Given the description of an element on the screen output the (x, y) to click on. 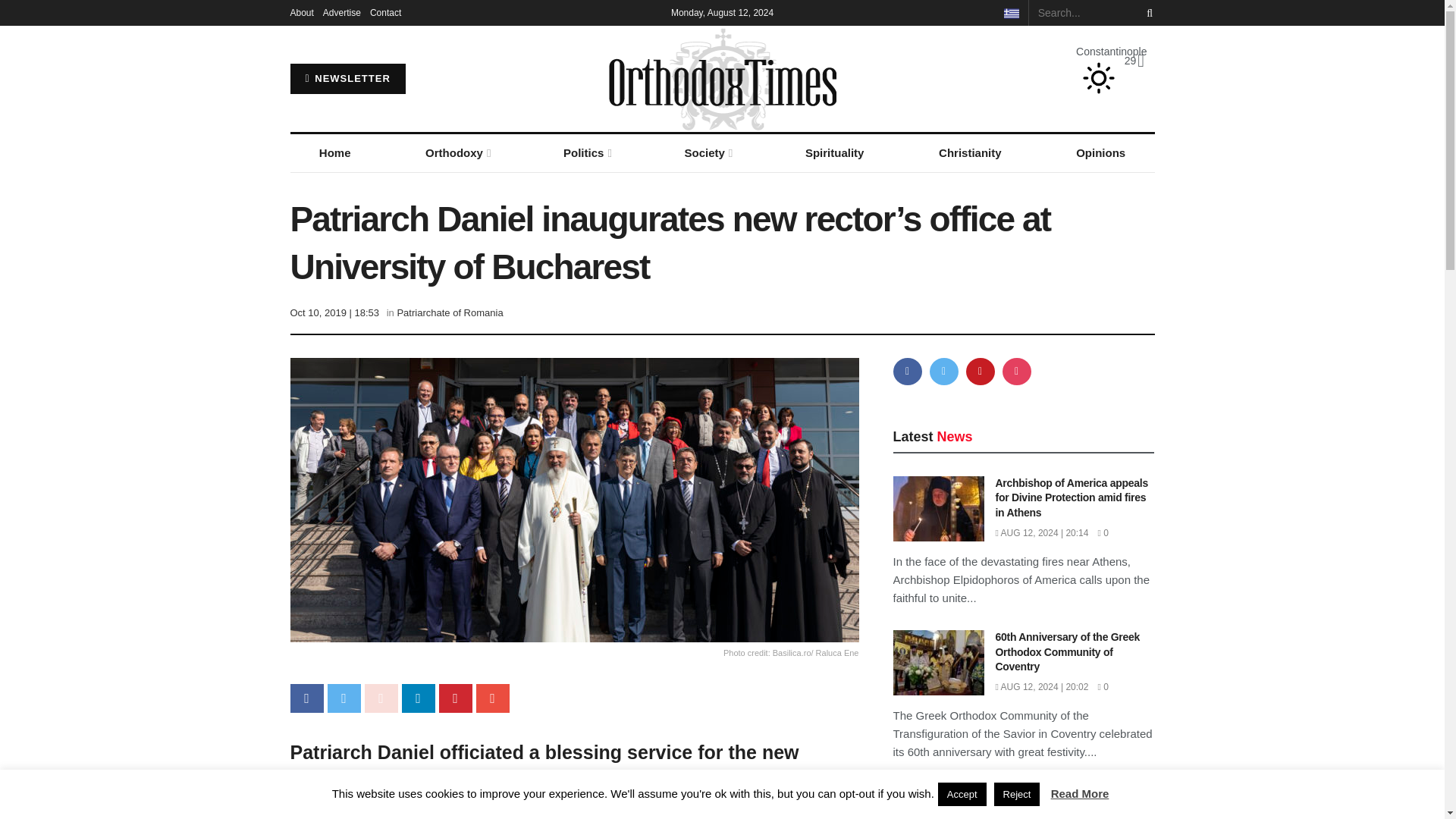
Politics (586, 152)
Orthodoxy (457, 152)
Home (333, 152)
Society (706, 152)
NEWSLETTER (346, 78)
About (301, 12)
Contact (385, 12)
Spirituality (834, 152)
Advertise (342, 12)
